Given the description of an element on the screen output the (x, y) to click on. 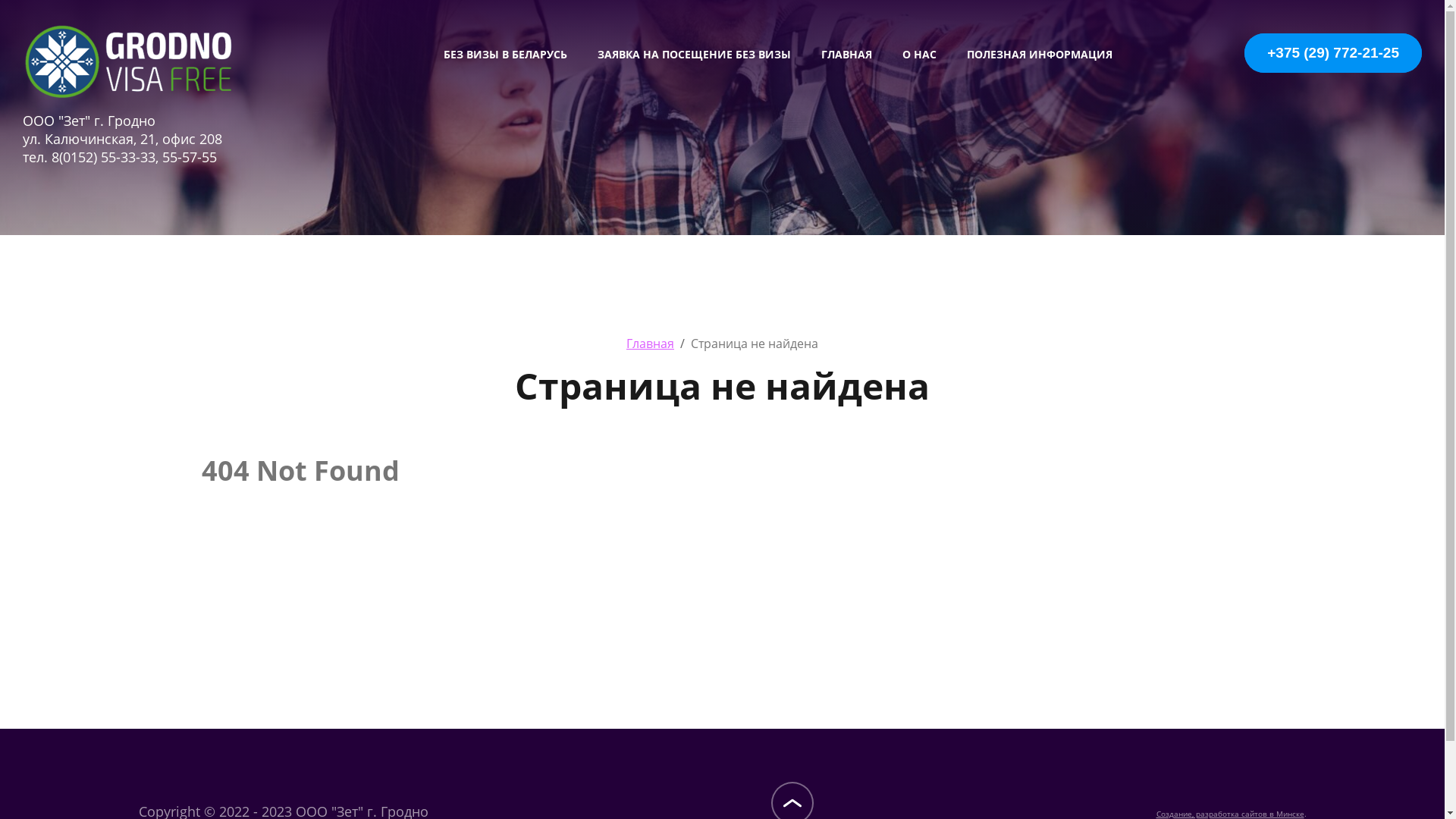
+375 (29) 772-21-25 Element type: text (1358, 61)
